Given the description of an element on the screen output the (x, y) to click on. 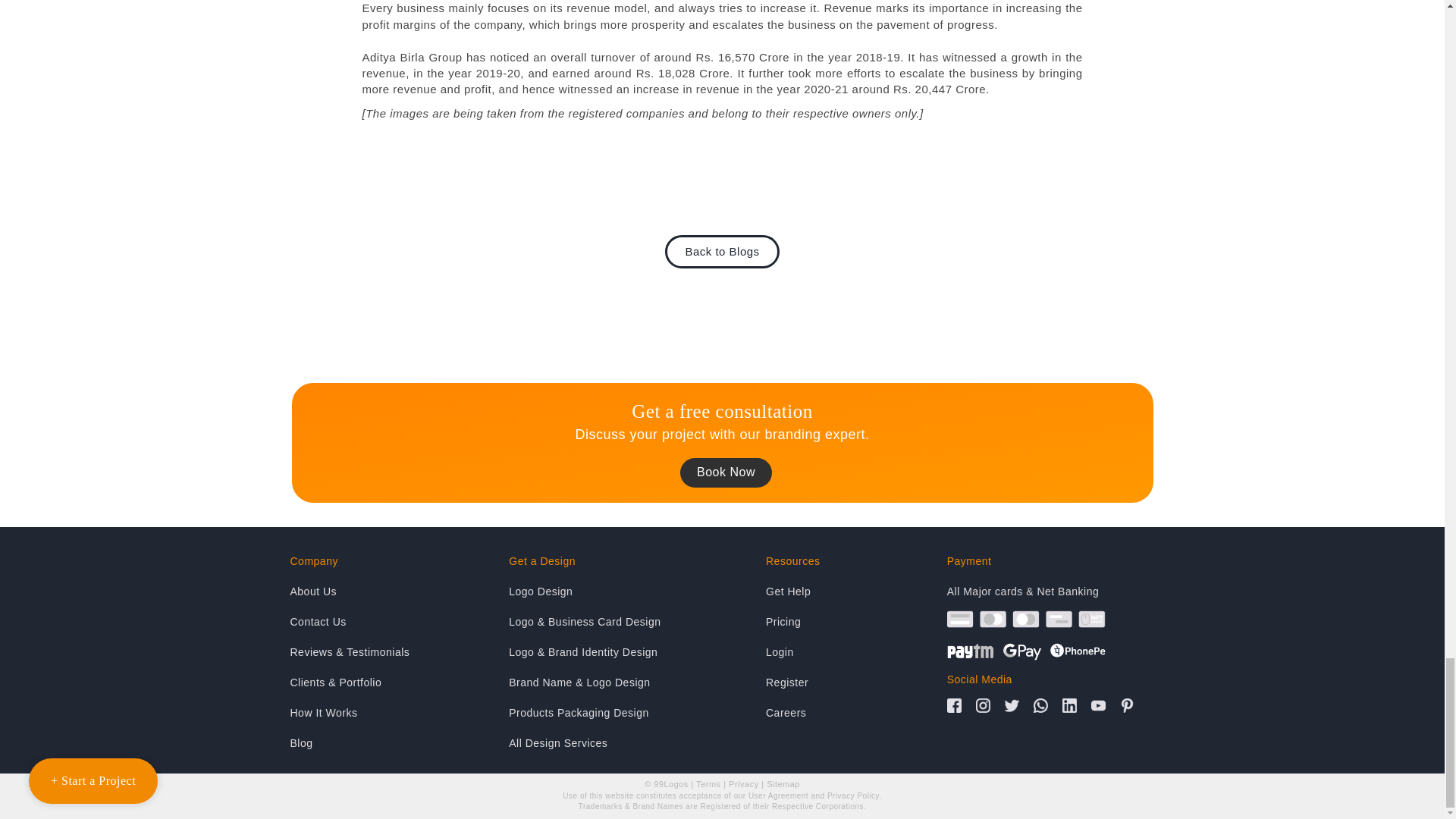
Logo Design (612, 590)
Get Help (850, 590)
About Us (393, 590)
Blog (393, 743)
Products Packaging Design (612, 712)
All Design Services (612, 743)
Pricing (850, 621)
Back to Blogs (721, 251)
Login (850, 651)
How It Works (393, 712)
